Given the description of an element on the screen output the (x, y) to click on. 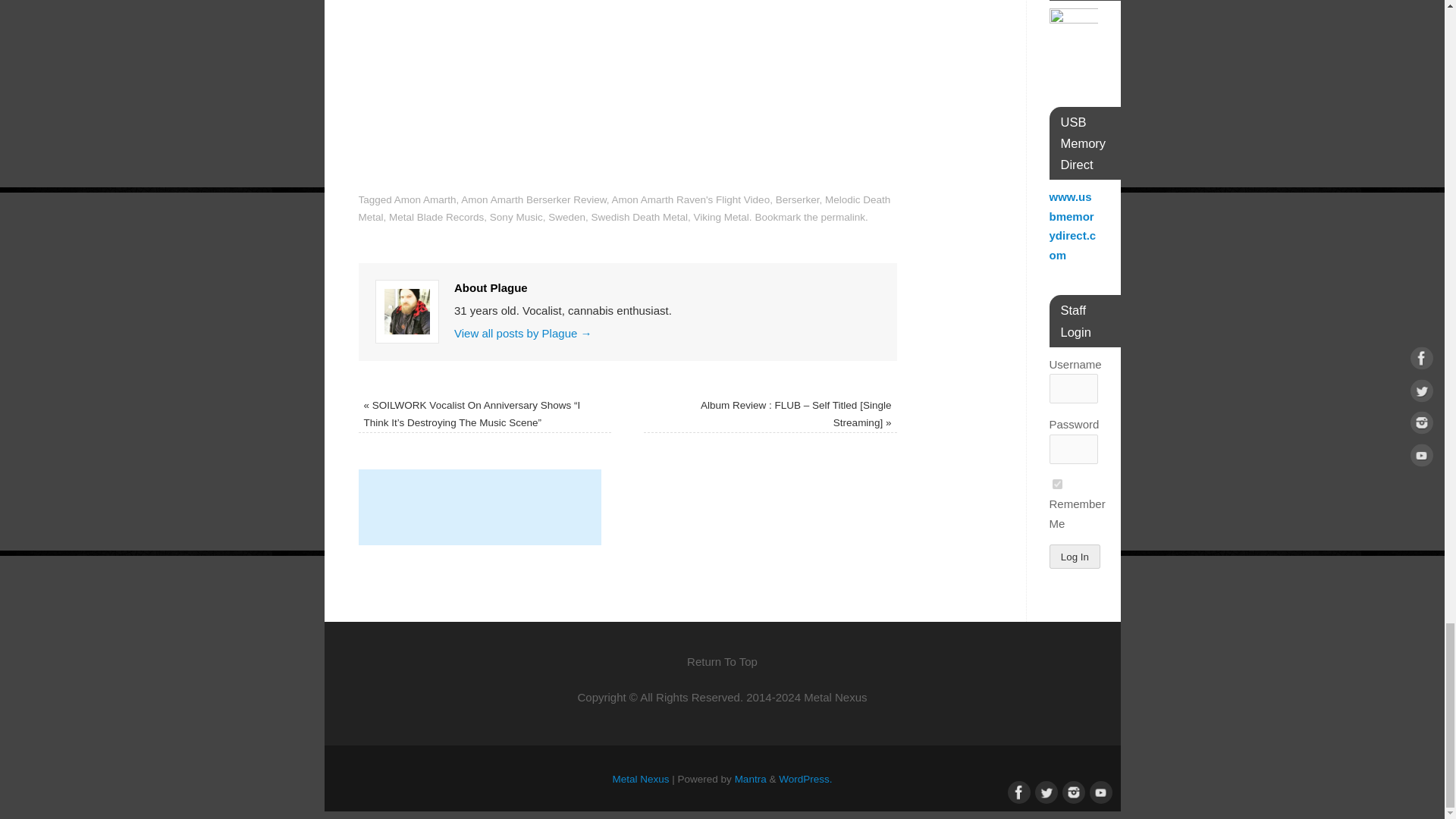
Sweden (566, 216)
Metal Nexus (640, 778)
Metal Blade Records (435, 216)
Swedish Death Metal (639, 216)
forever (1057, 483)
Amon Amarth Raven's Flight Video (690, 199)
Log In (1074, 556)
Sony Music (516, 216)
YouTube player (627, 87)
Viking Metal (721, 216)
